Given the description of an element on the screen output the (x, y) to click on. 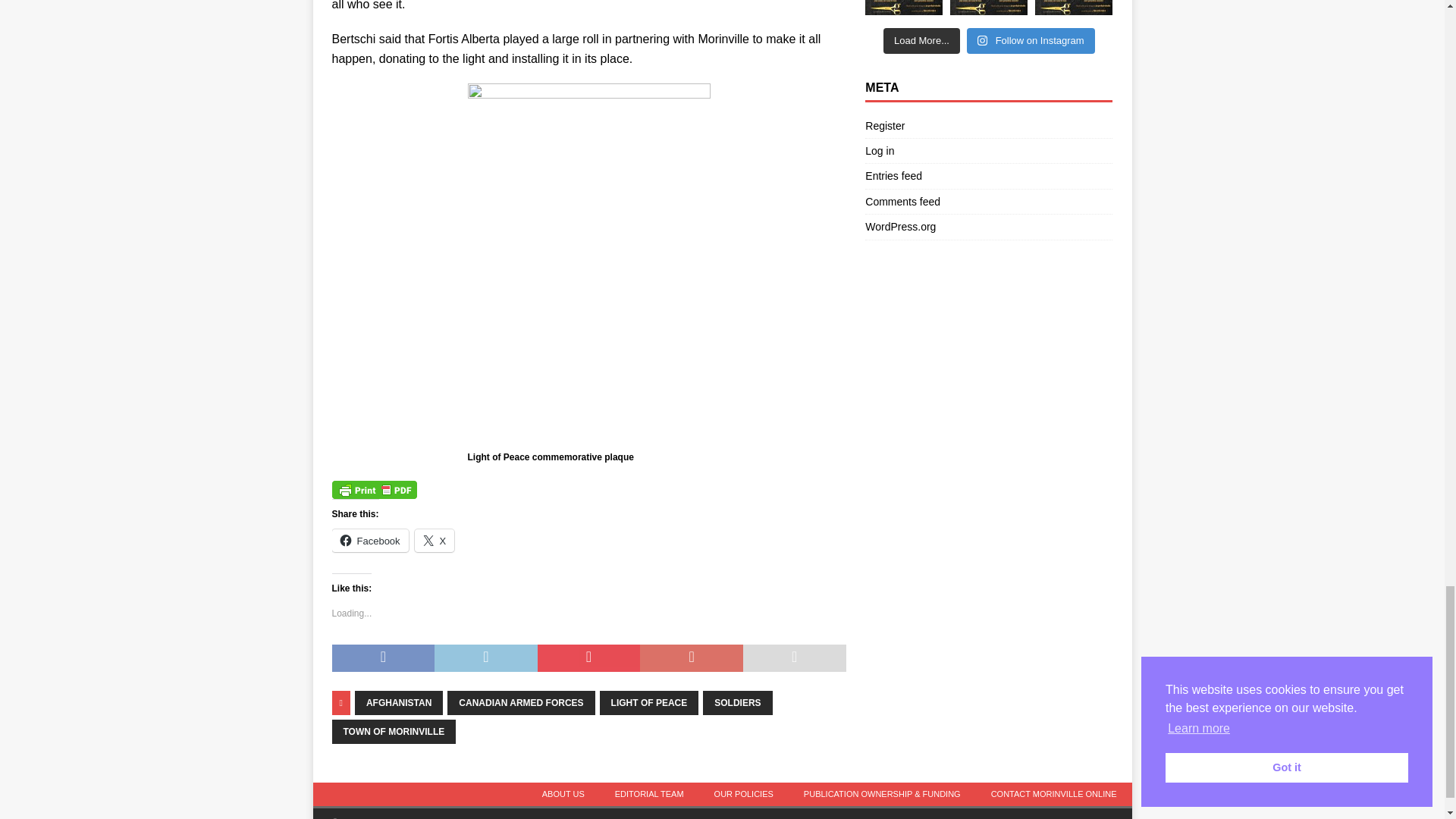
Click to share on X (434, 540)
Click to share on Facebook (370, 540)
